Given the description of an element on the screen output the (x, y) to click on. 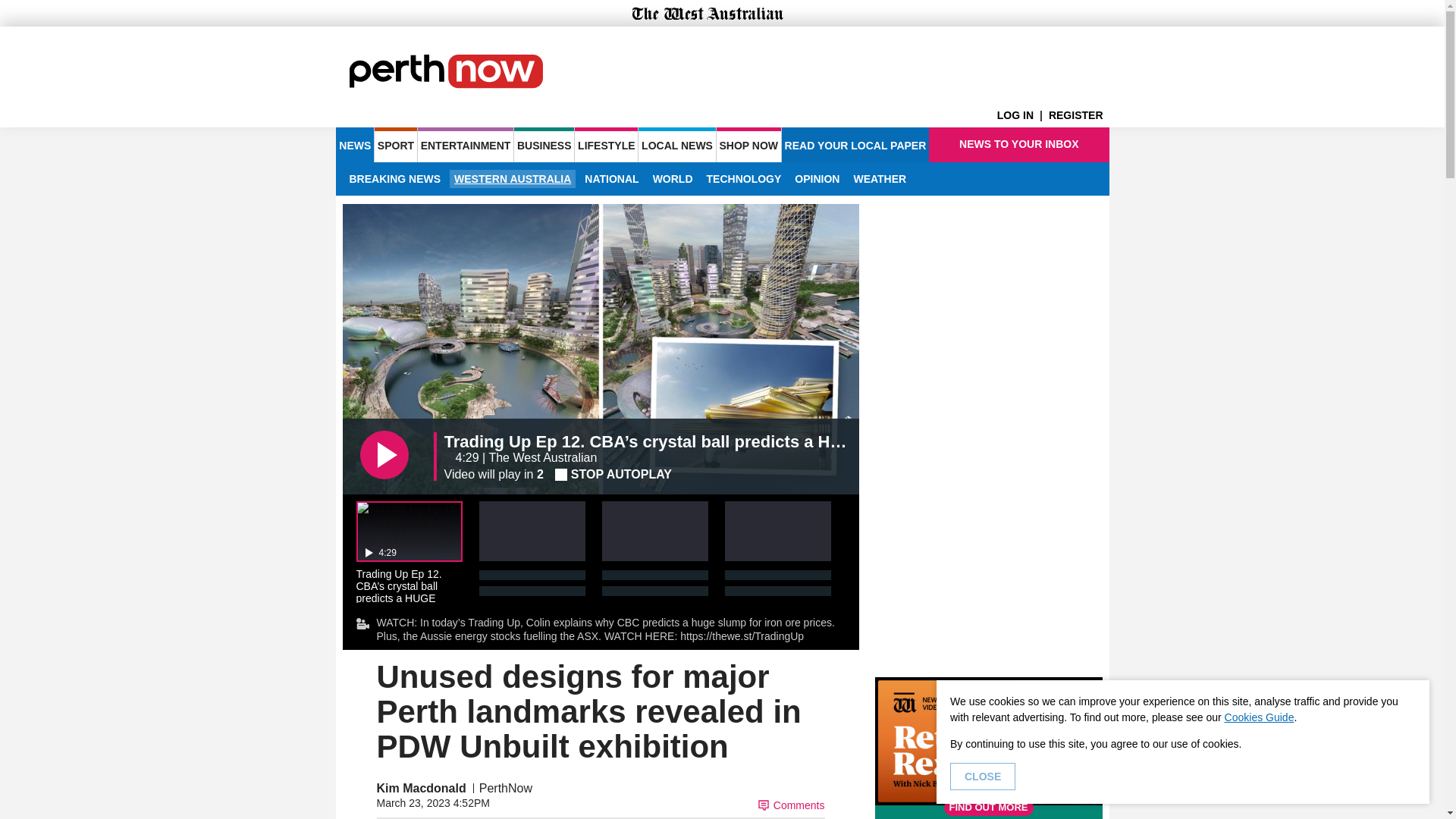
NEWS (354, 144)
ENTERTAINMENT (465, 144)
REGISTER (1078, 115)
SPORT (395, 144)
Play Video (383, 454)
LOG IN (1022, 115)
